Given the description of an element on the screen output the (x, y) to click on. 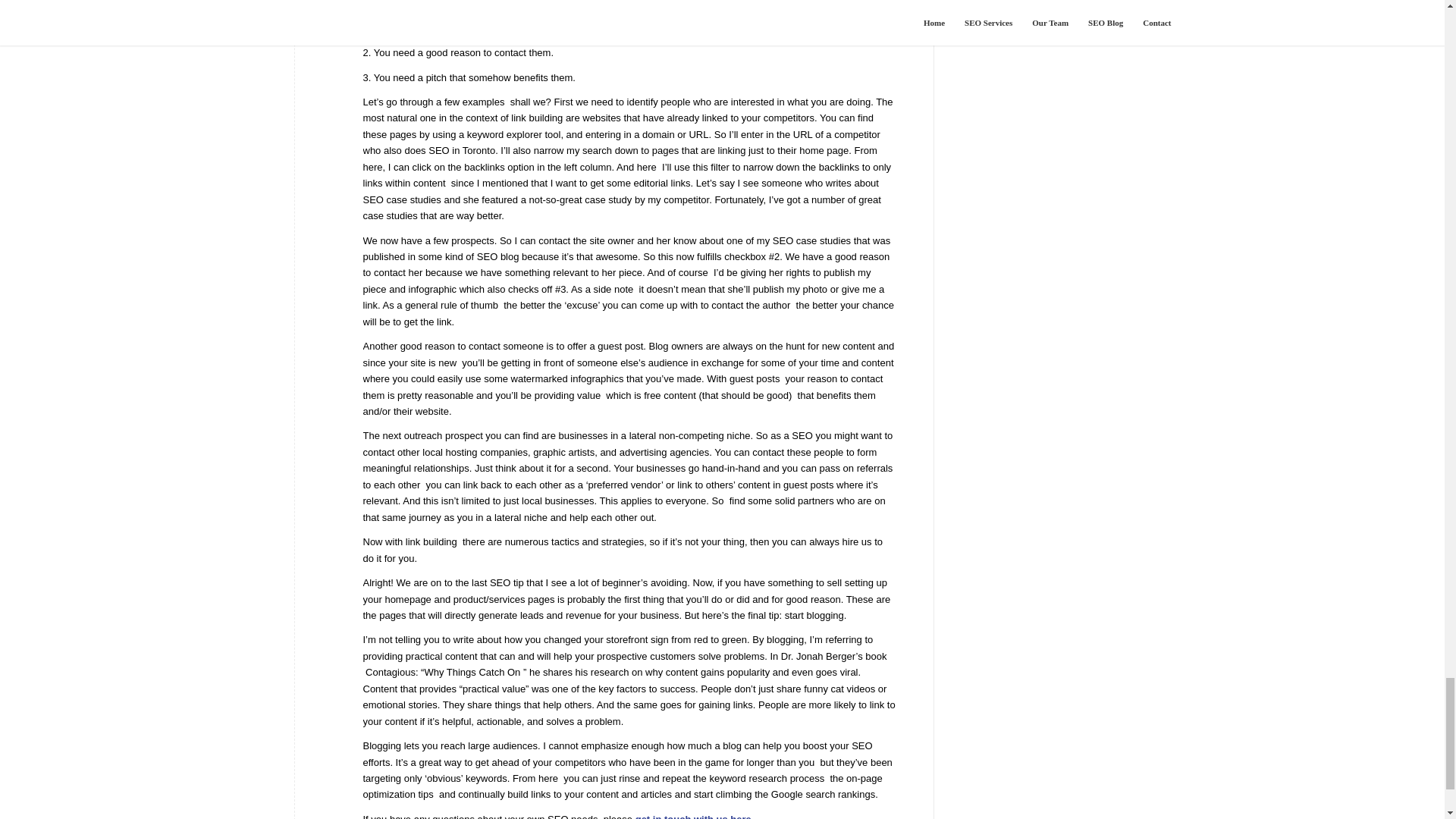
get in touch with us here (692, 816)
